Given the description of an element on the screen output the (x, y) to click on. 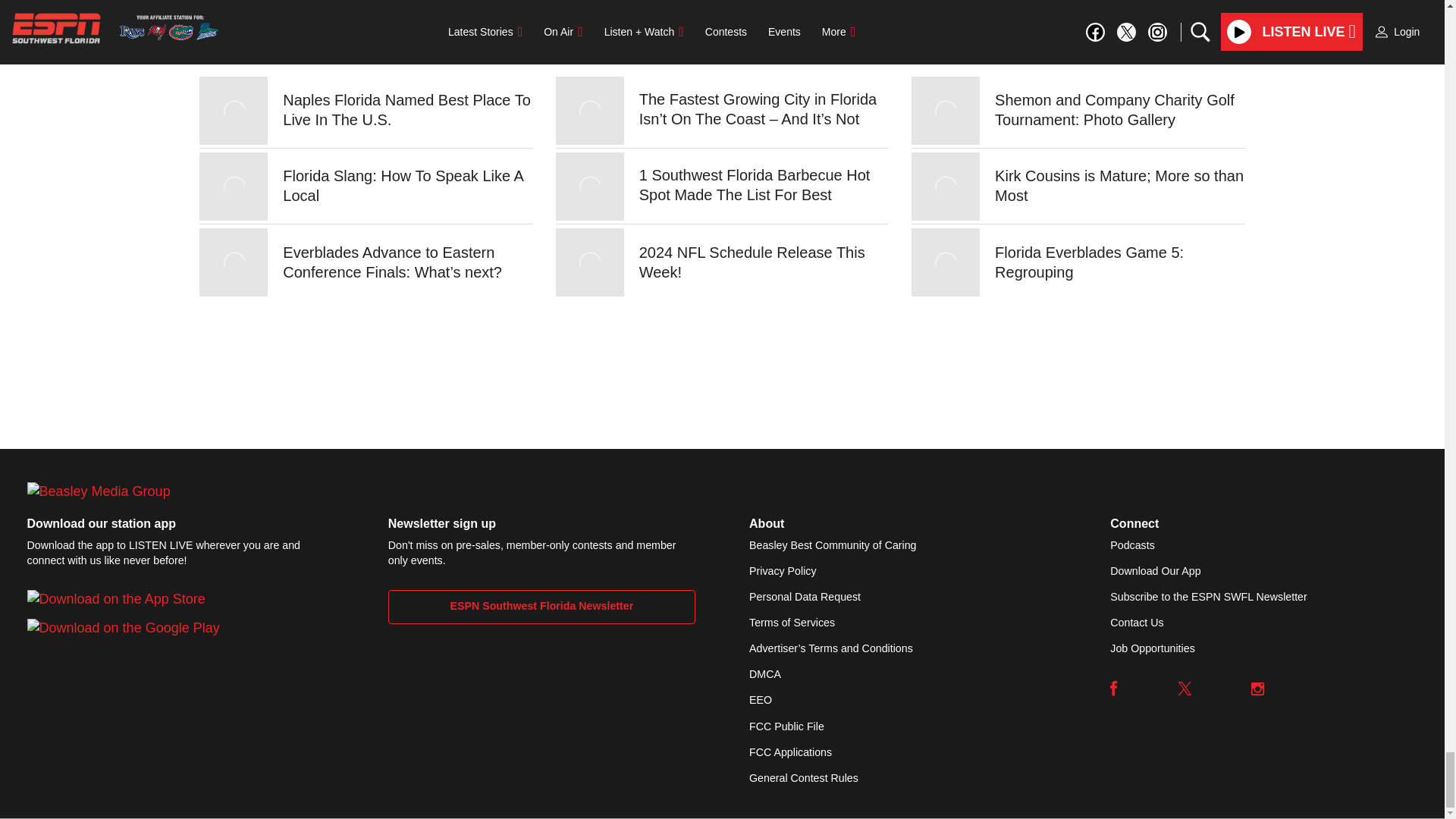
Instagram (1256, 688)
Twitter (1184, 688)
